Given the description of an element on the screen output the (x, y) to click on. 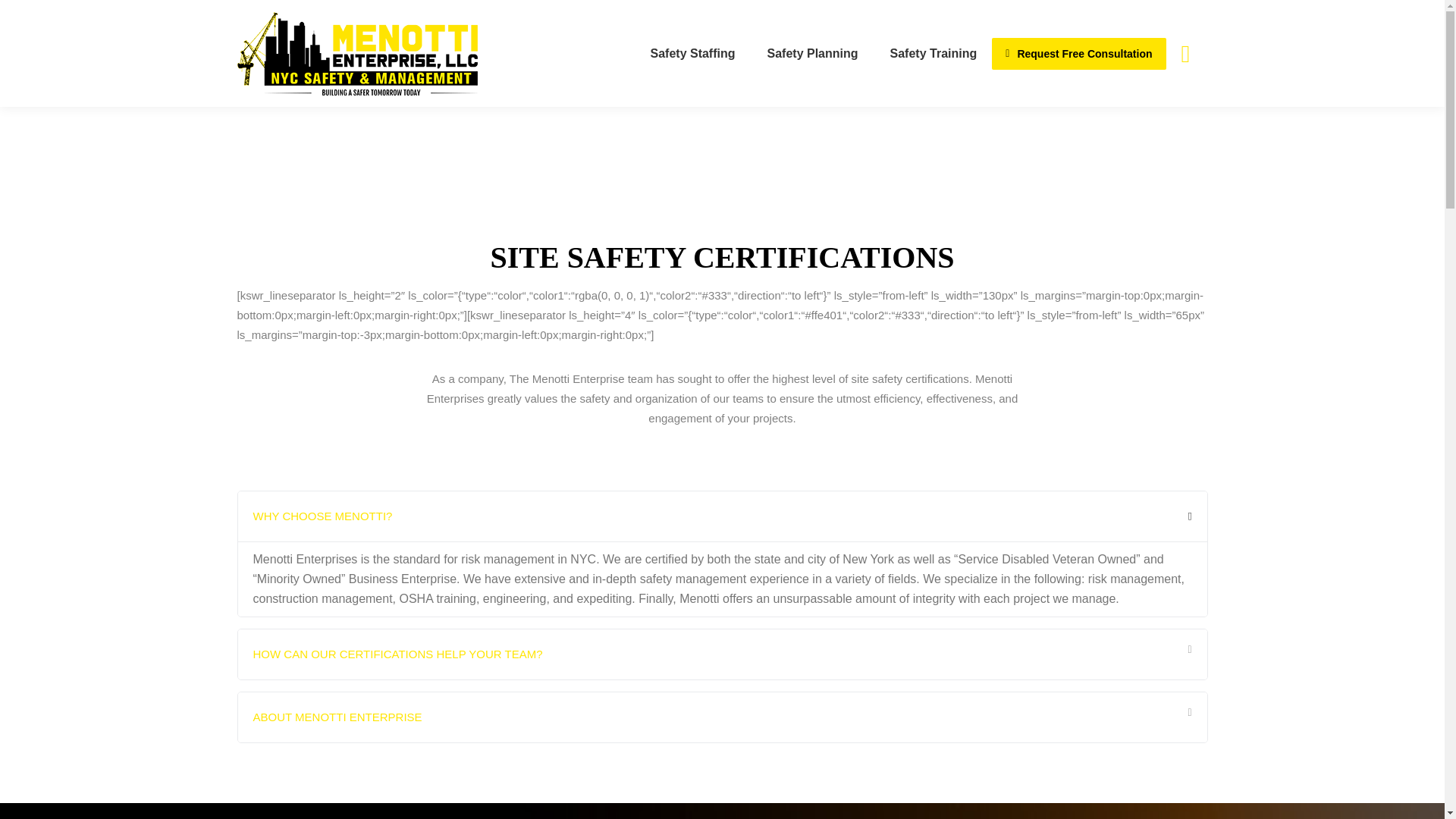
Request Free Consultation (1078, 53)
Safety Training (932, 52)
Safety Staffing (692, 52)
Safety Planning (813, 52)
